Given the description of an element on the screen output the (x, y) to click on. 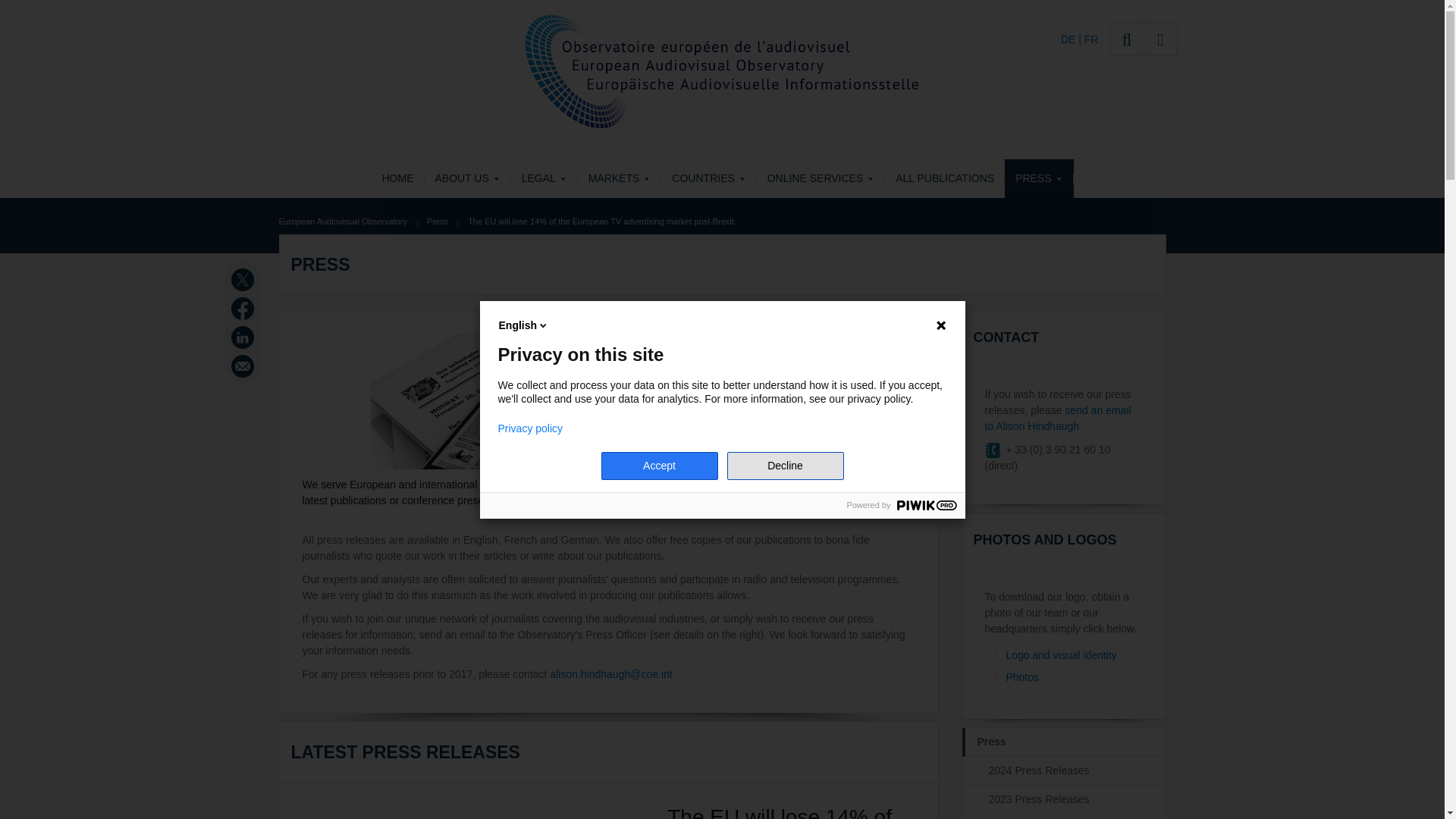
ABOUT US (468, 178)
LEGAL (544, 178)
DE (1069, 39)
Send this page (244, 365)
FR (1091, 39)
HOME (398, 178)
Share on Linkedin (244, 336)
Share on Facebook (244, 308)
